Given the description of an element on the screen output the (x, y) to click on. 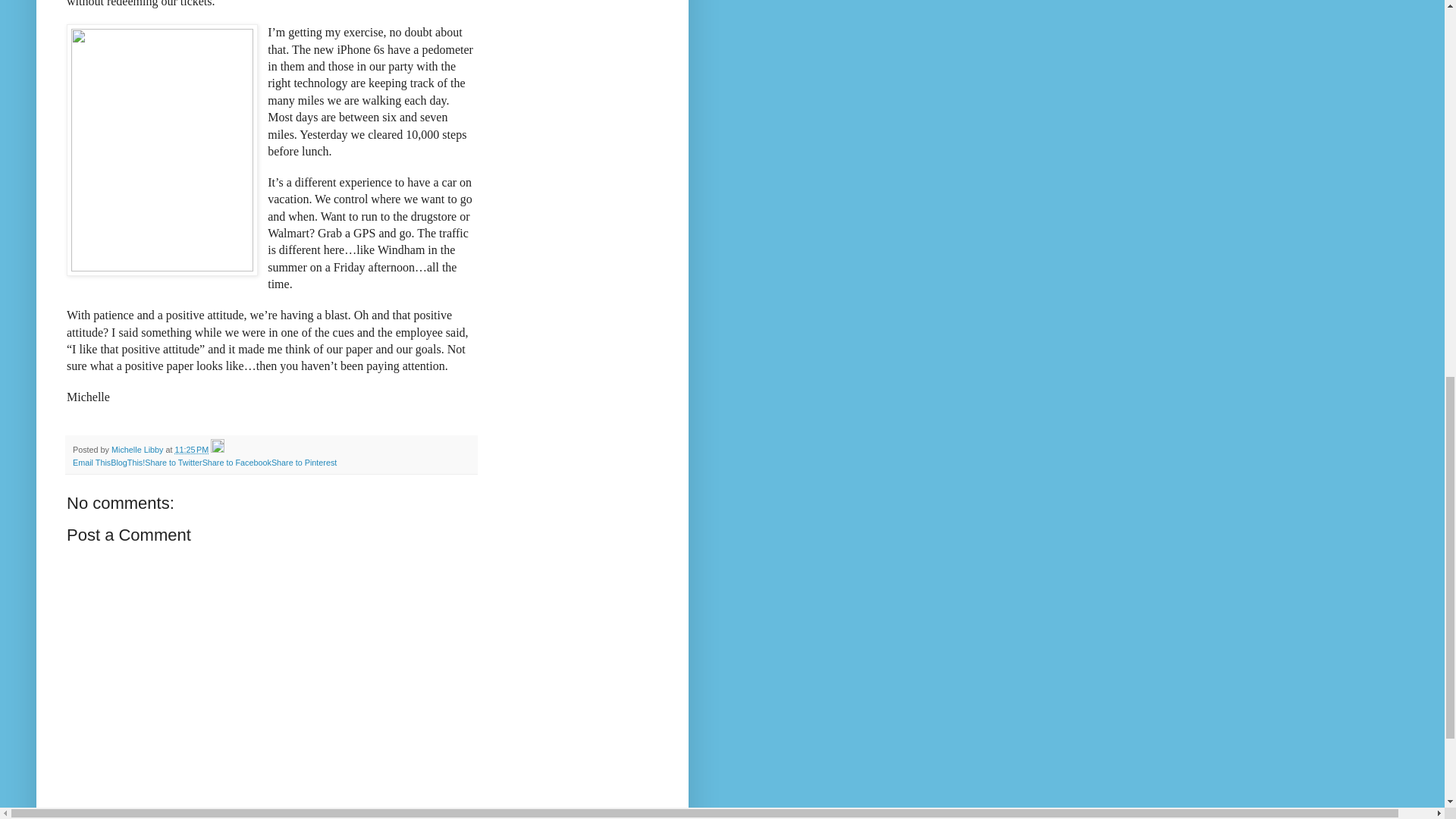
author profile (138, 449)
BlogThis! (127, 461)
Share to Twitter (173, 461)
Share to Facebook (236, 461)
BlogThis! (127, 461)
Share to Pinterest (303, 461)
permanent link (191, 449)
Email This (91, 461)
Share to Twitter (173, 461)
Share to Facebook (236, 461)
